Given the description of an element on the screen output the (x, y) to click on. 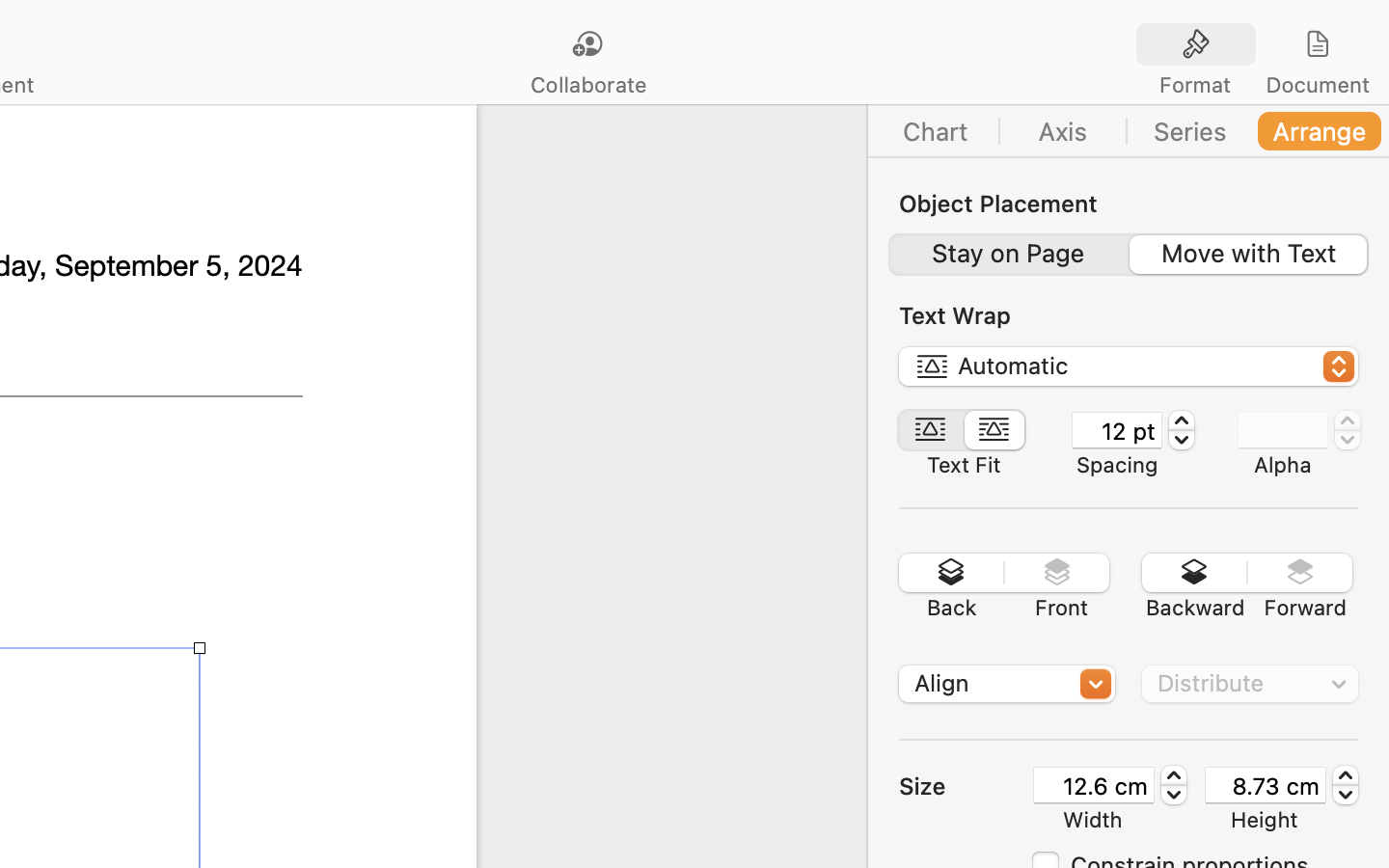
Format Element type: AXStaticText (1194, 84)
Document Element type: AXStaticText (1316, 84)
8.73 cm Element type: AXTextField (1265, 784)
0.0 Element type: AXIncrementor (1347, 430)
